Given the description of an element on the screen output the (x, y) to click on. 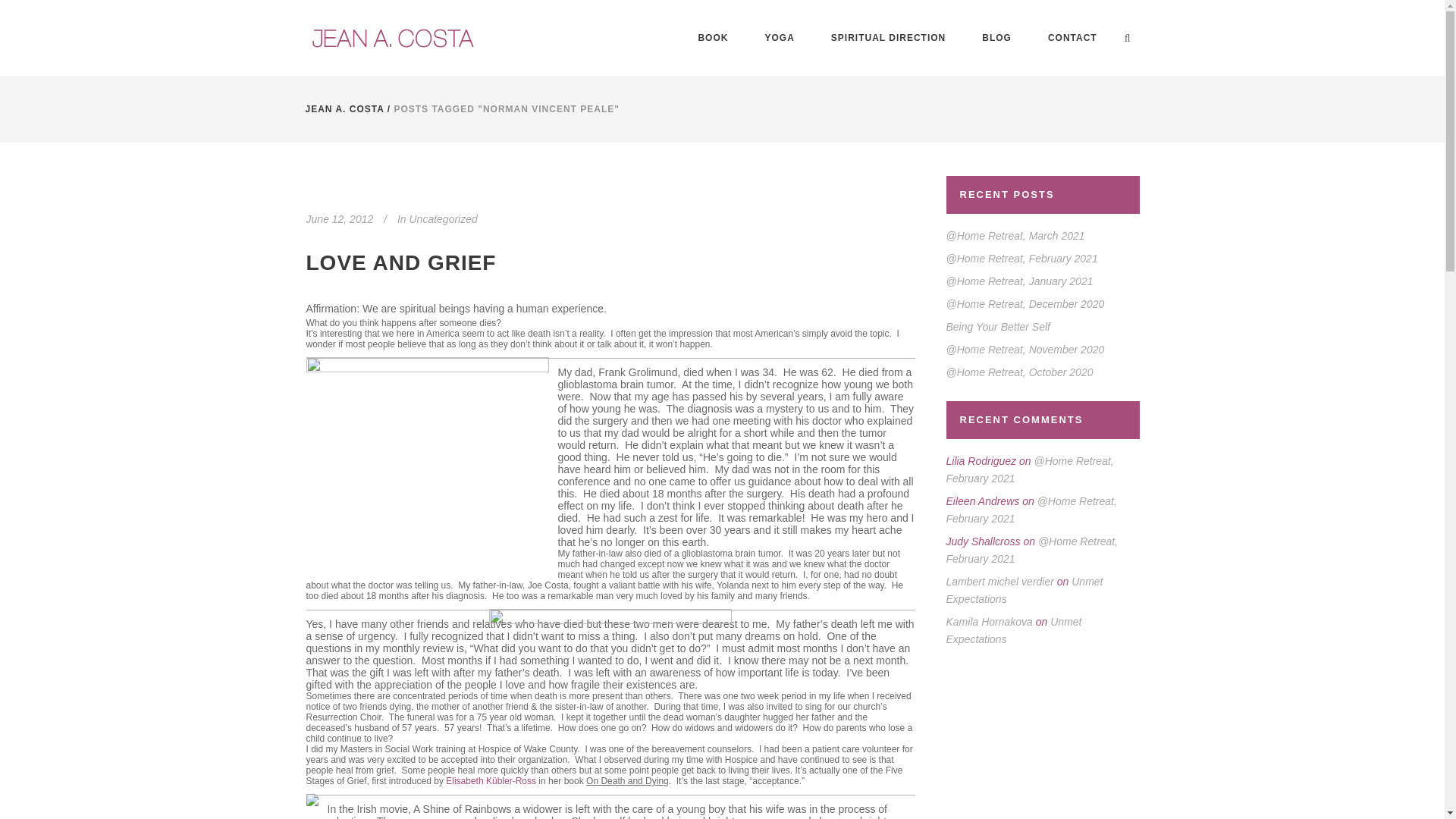
LOVE AND GRIEF (400, 262)
SPIRITUAL DIRECTION (887, 38)
Being Your Better Self (998, 326)
JEAN A. COSTA (344, 109)
Uncategorized (443, 218)
CONTACT (1072, 38)
